Given the description of an element on the screen output the (x, y) to click on. 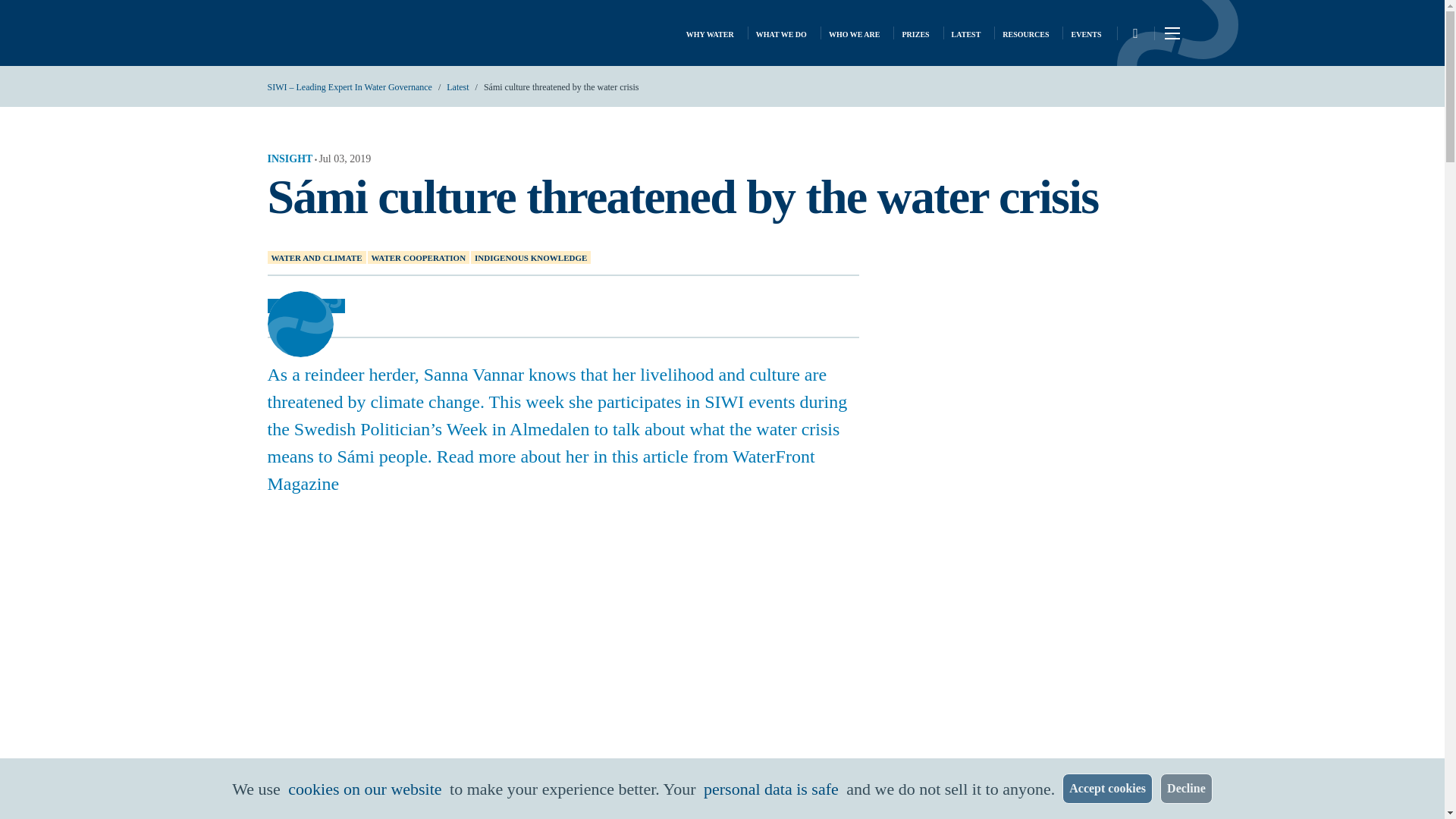
Skip to content. (25, 13)
WHO WE ARE (854, 34)
RESOURCES (1025, 34)
WHY WATER (709, 34)
LATEST (966, 34)
Search Icon (1134, 32)
WHAT WE DO (780, 34)
EVENTS (1085, 34)
PRIZES (914, 34)
